Given the description of an element on the screen output the (x, y) to click on. 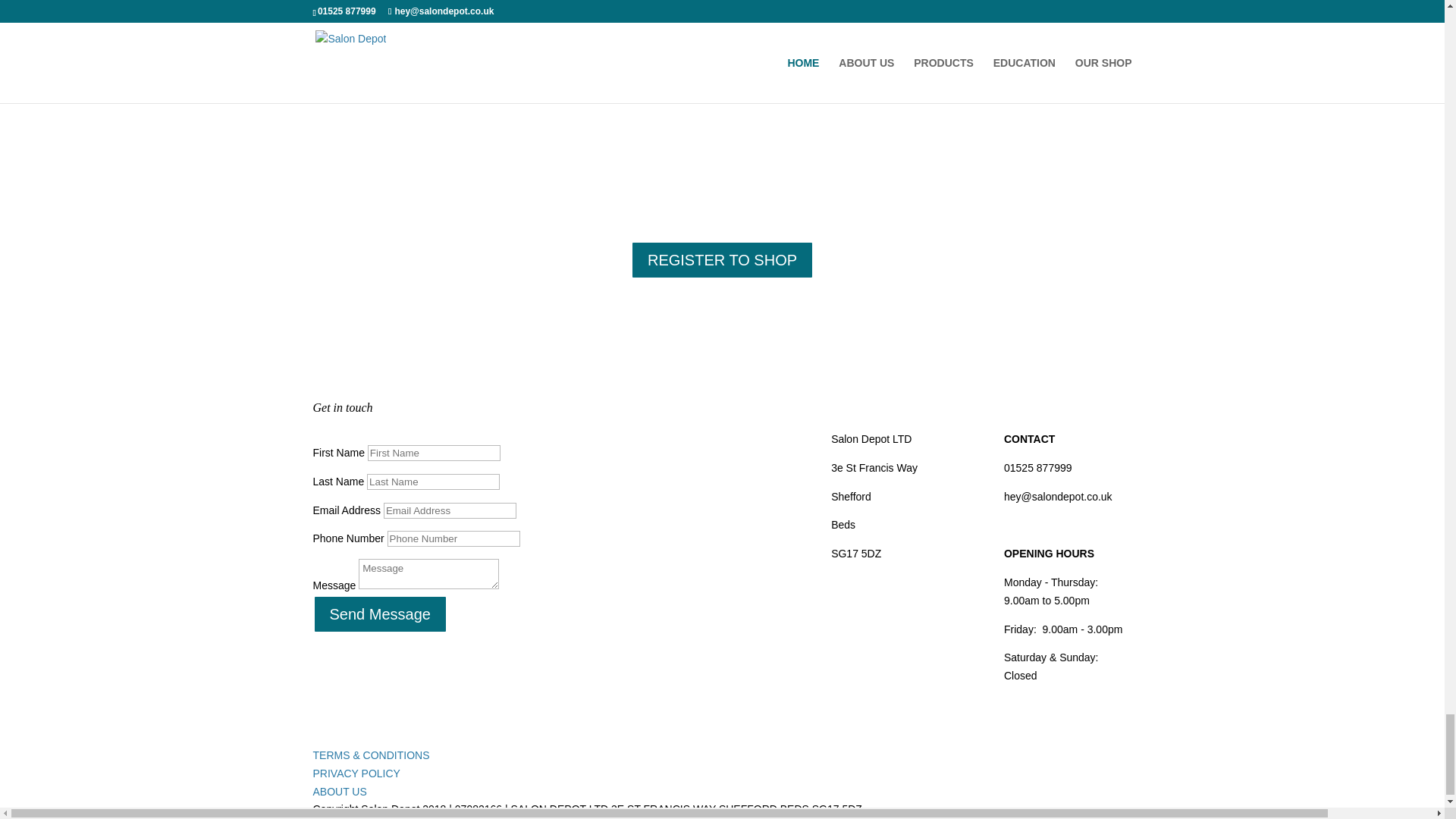
REGISTER TO SHOP (721, 259)
Send Message (379, 614)
PRIVACY POLICY (355, 773)
ABOUT US (339, 791)
